Given the description of an element on the screen output the (x, y) to click on. 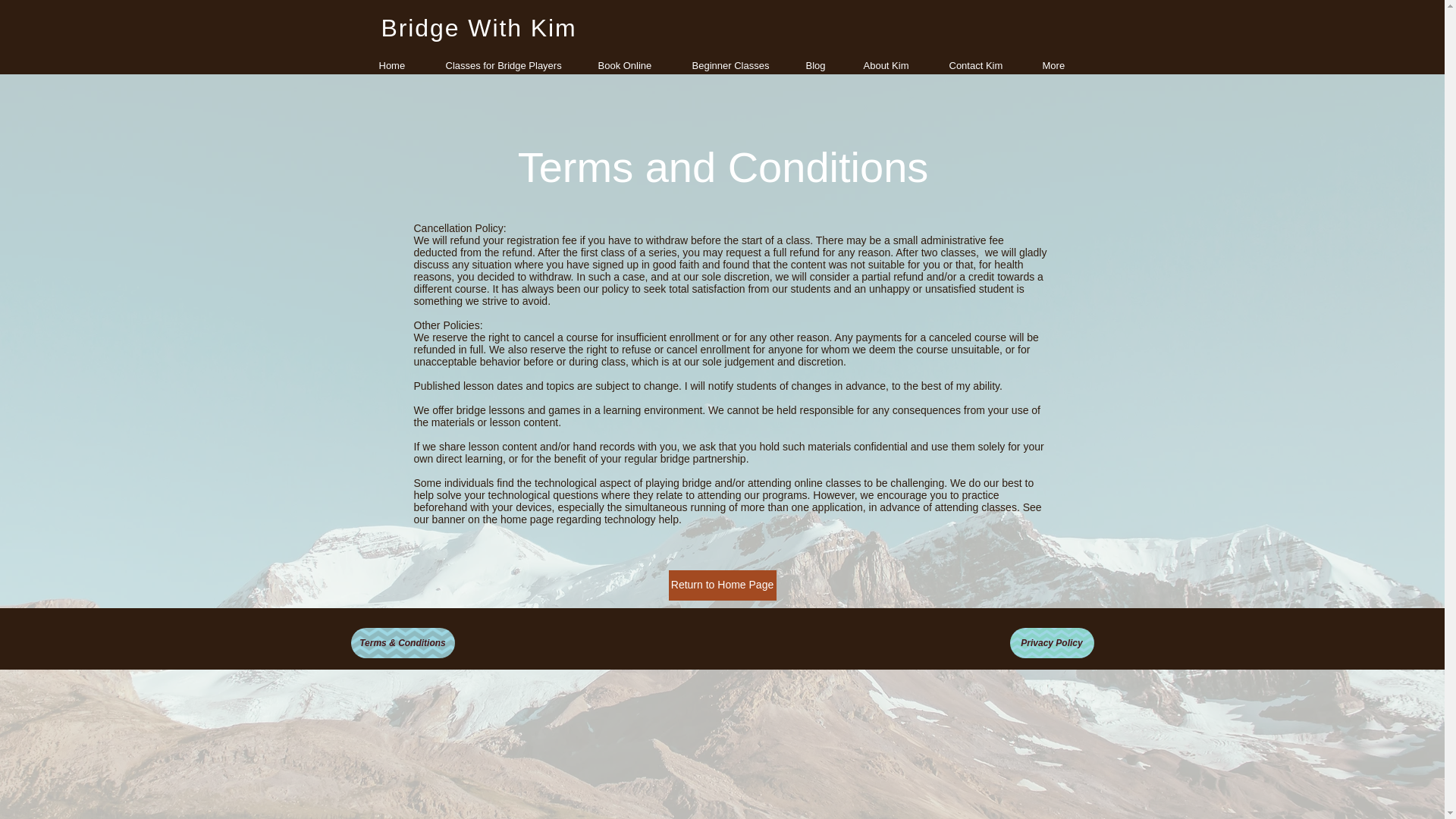
Book Online (629, 65)
Home (397, 65)
Return to Home Page (722, 585)
Beginner Classes (733, 65)
Contact Kim (980, 65)
Blog (818, 65)
Classes for Bridge Players (506, 65)
About Kim (890, 65)
Bridge With Kim (478, 27)
Privacy Policy (1052, 643)
